Given the description of an element on the screen output the (x, y) to click on. 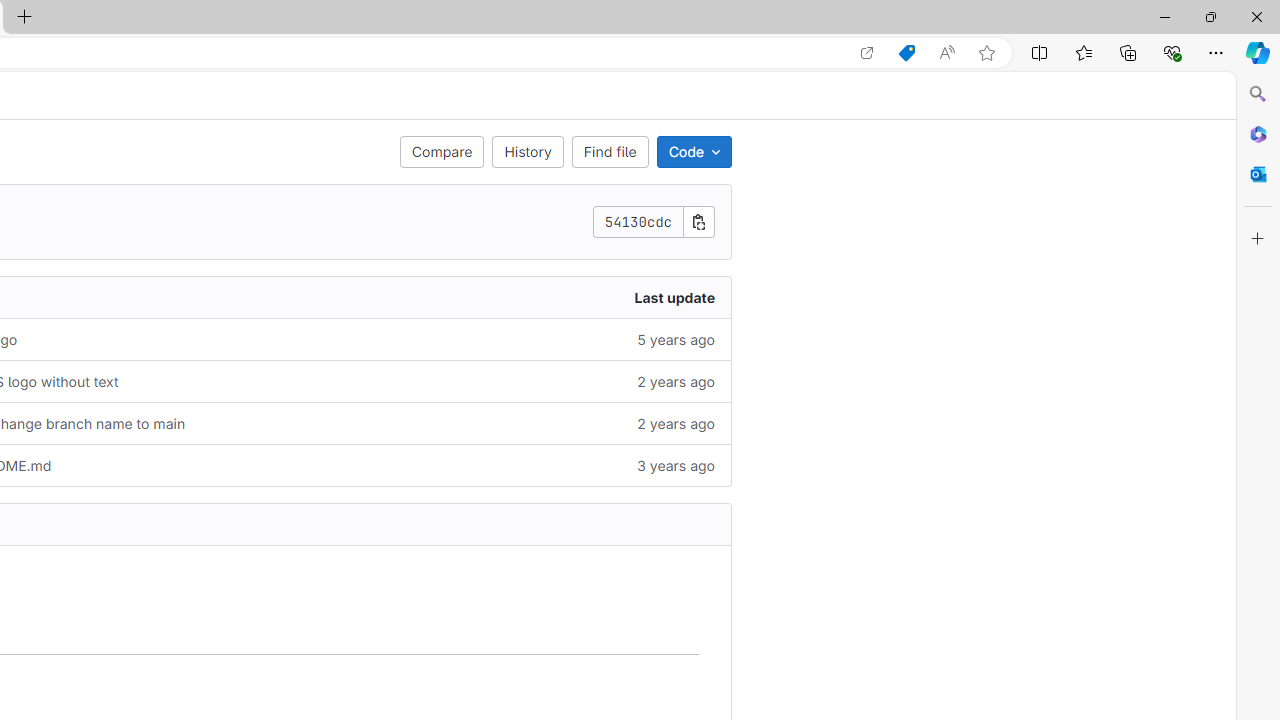
Copy commit SHA (699, 221)
Compare (442, 151)
Find file (609, 151)
History (527, 151)
2 years ago (522, 422)
Code (693, 151)
Open in app (867, 53)
